Given the description of an element on the screen output the (x, y) to click on. 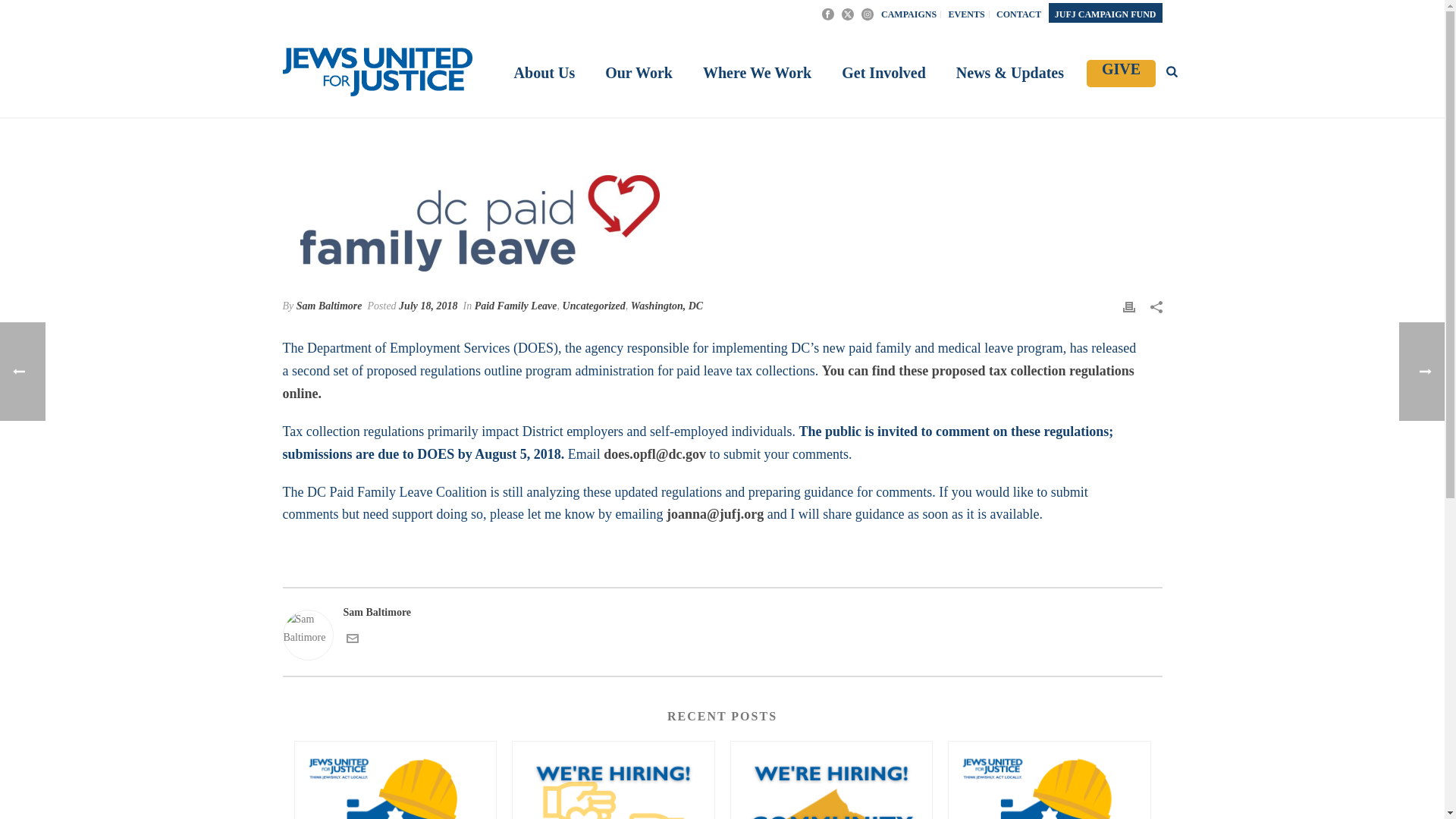
About Us (545, 73)
Where We Work (757, 73)
EVENTS (967, 14)
Our Work (638, 73)
CAMPAIGNS (908, 14)
JOB: Development Manager (613, 780)
Paid leave regulations: tax collection (480, 218)
GIVE (1121, 72)
Paid leave regulations: tax collection (721, 218)
Labor on the Bimah 2024 (395, 780)
